Given the description of an element on the screen output the (x, y) to click on. 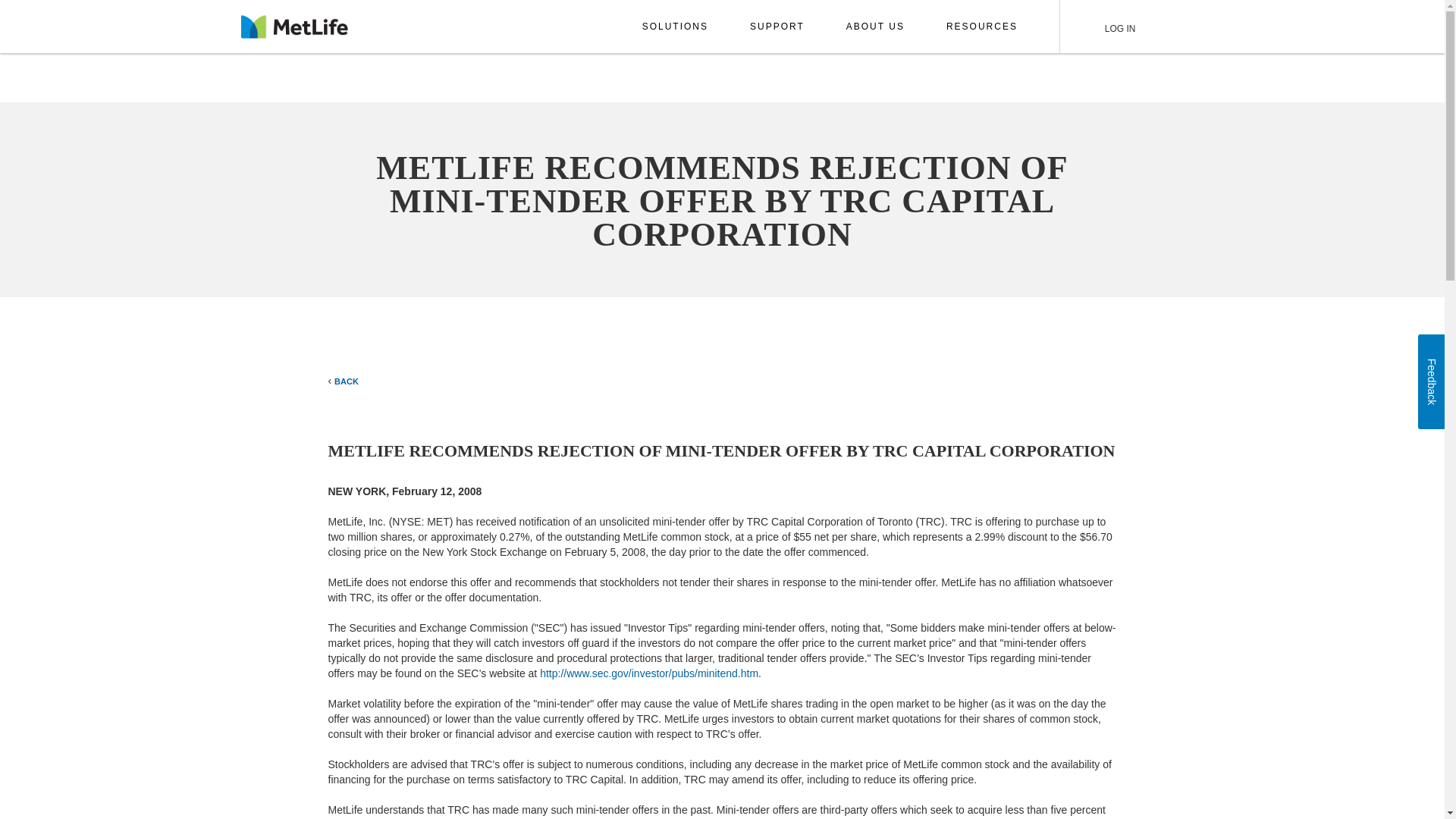
LOG IN LOG IN (1112, 27)
LOG IN (1112, 27)
SEARCH (1171, 26)
